Given the description of an element on the screen output the (x, y) to click on. 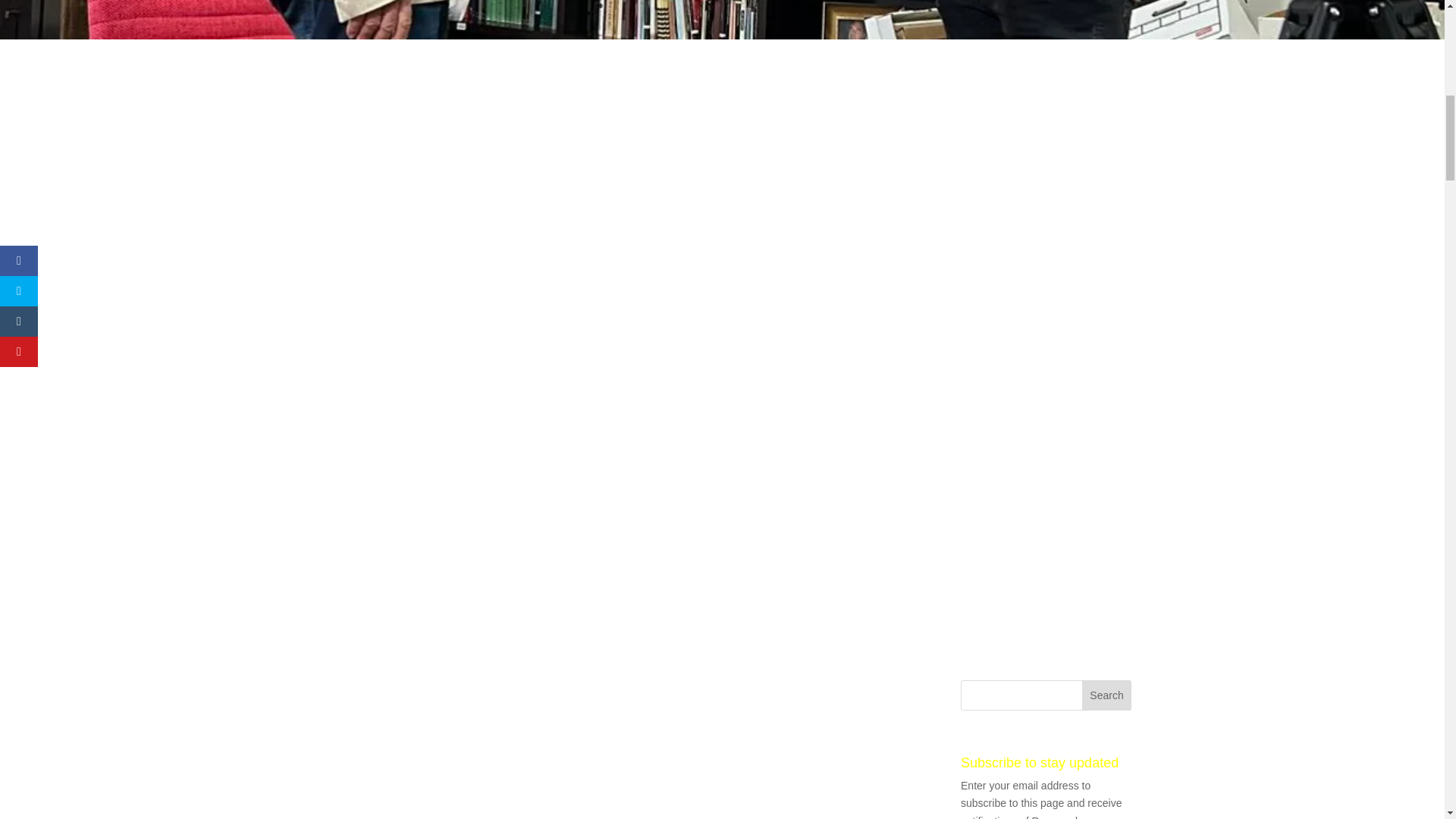
Justin Beahm (694, 406)
Search (1106, 695)
Search (1106, 695)
Posts by Justin Beahm (694, 406)
